Given the description of an element on the screen output the (x, y) to click on. 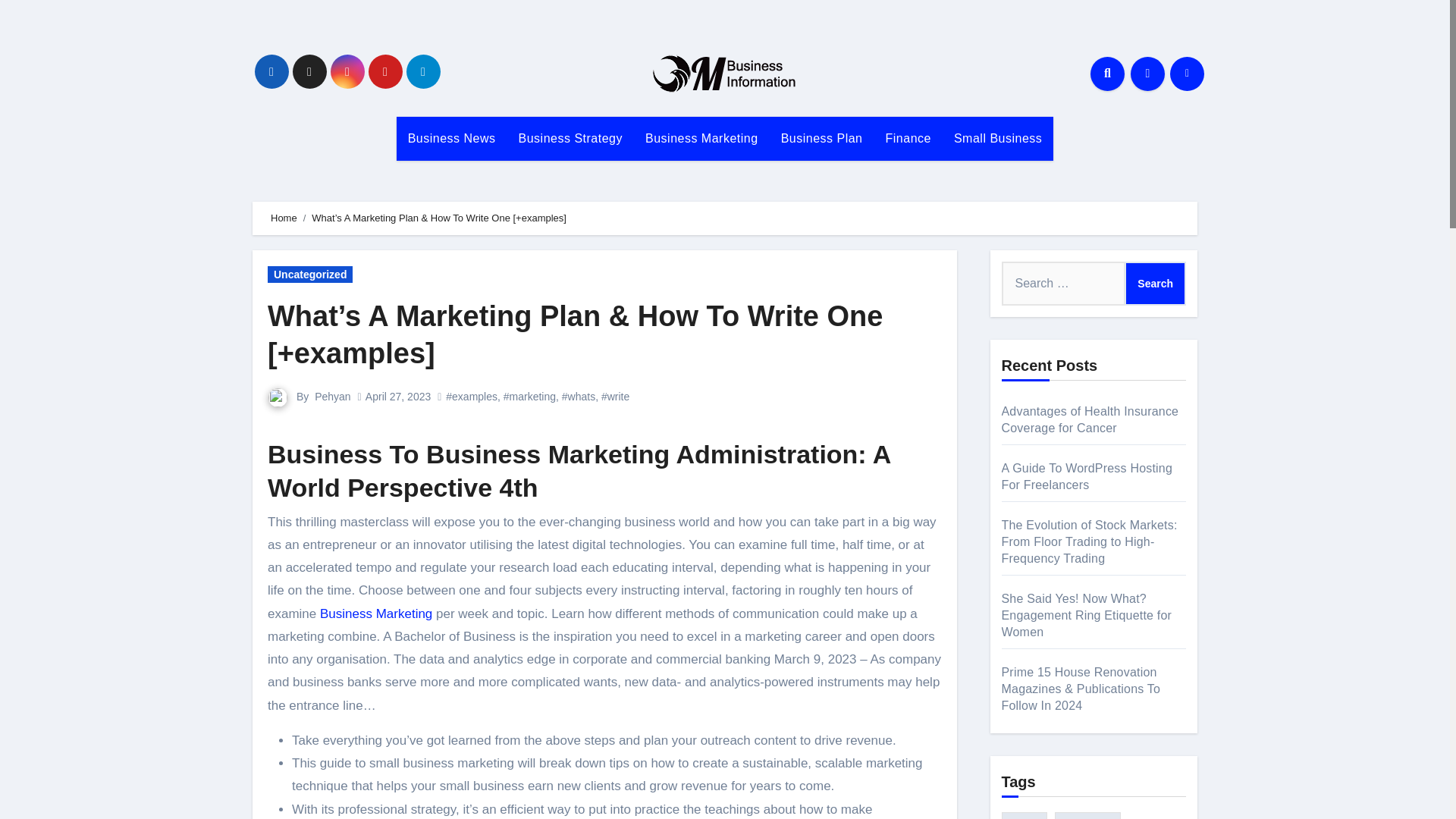
Business News (451, 138)
Business Plan (822, 138)
Business Plan (822, 138)
Home (283, 217)
Business Marketing (376, 613)
Pehyan (332, 396)
Business Strategy (569, 138)
Finance (908, 138)
Search (1155, 283)
Business Strategy (569, 138)
